Given the description of an element on the screen output the (x, y) to click on. 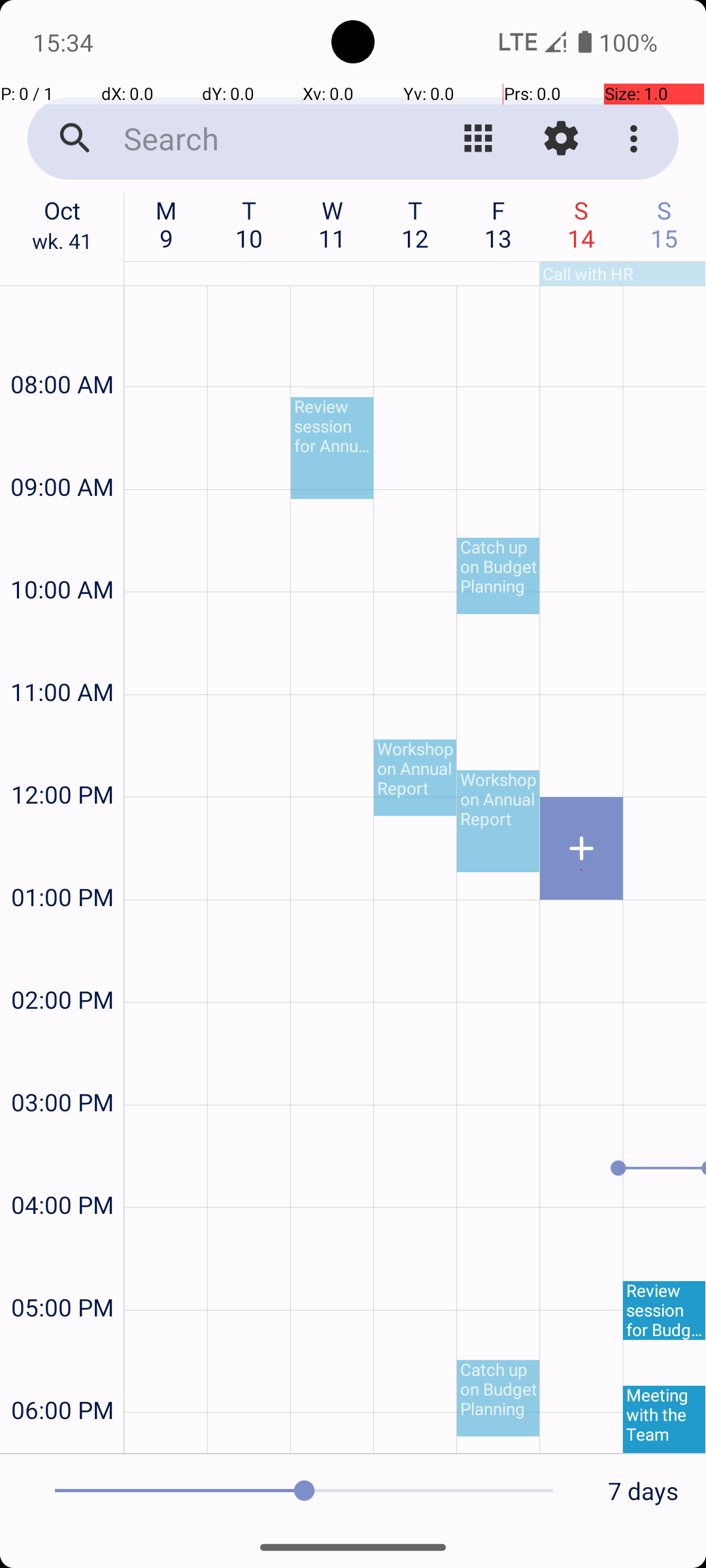
08:00 AM Element type: android.widget.TextView (62, 348)
09:00 AM Element type: android.widget.TextView (62, 451)
10:00 AM Element type: android.widget.TextView (62, 554)
11:00 AM Element type: android.widget.TextView (62, 656)
12:00 PM Element type: android.widget.TextView (62, 759)
01:00 PM Element type: android.widget.TextView (62, 861)
02:00 PM Element type: android.widget.TextView (62, 964)
03:00 PM Element type: android.widget.TextView (62, 1066)
04:00 PM Element type: android.widget.TextView (62, 1169)
05:00 PM Element type: android.widget.TextView (62, 1272)
06:00 PM Element type: android.widget.TextView (62, 1374)
07:00 PM Element type: android.widget.TextView (62, 1440)
